Given the description of an element on the screen output the (x, y) to click on. 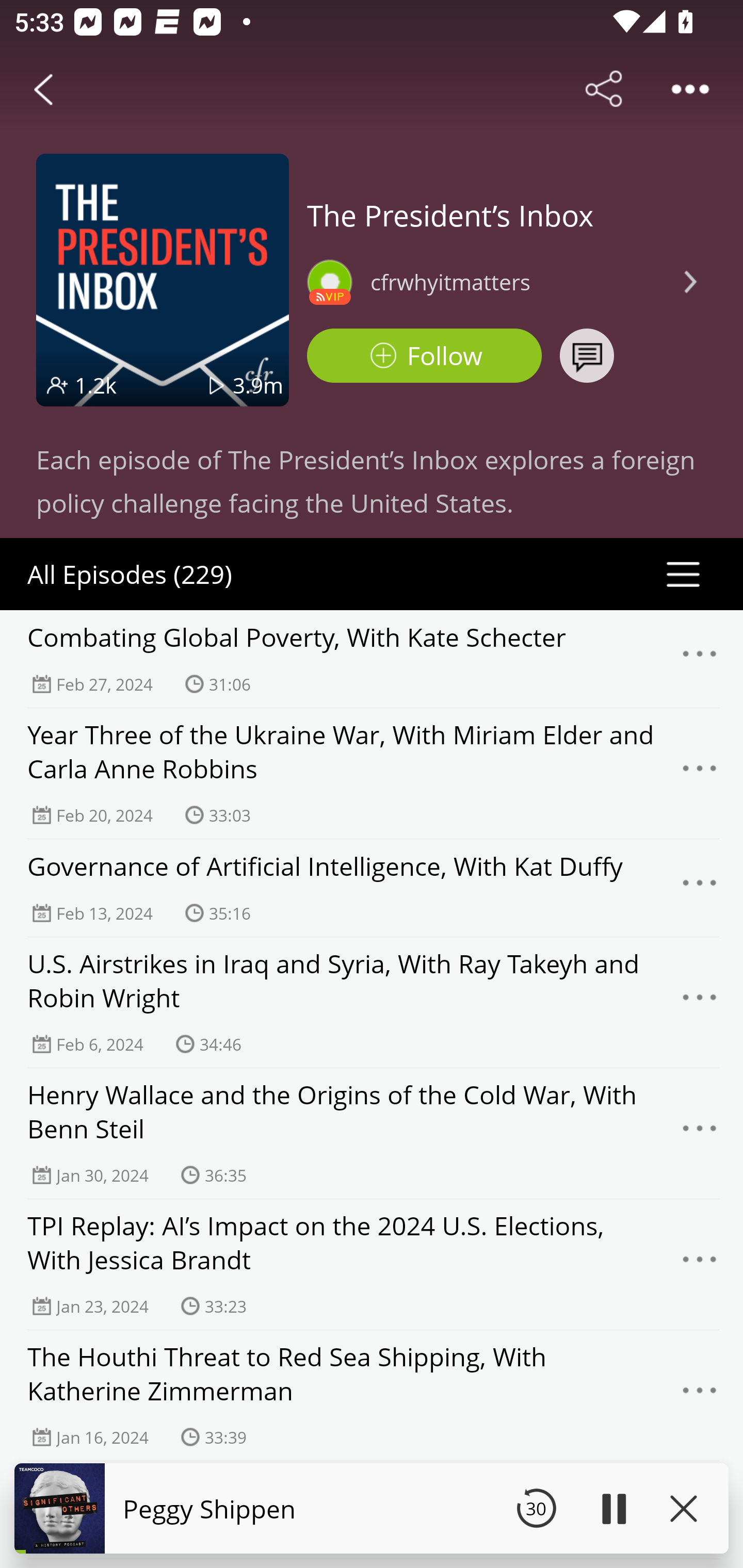
Back (43, 88)
Podbean Follow (423, 355)
1.2k (95, 384)
Menu (699, 659)
Menu (699, 773)
Menu (699, 888)
Menu (699, 1002)
Menu (699, 1133)
Menu (699, 1264)
Menu (699, 1395)
Play (613, 1507)
Menu (699, 1510)
30 Seek Backward (536, 1508)
